Given the description of an element on the screen output the (x, y) to click on. 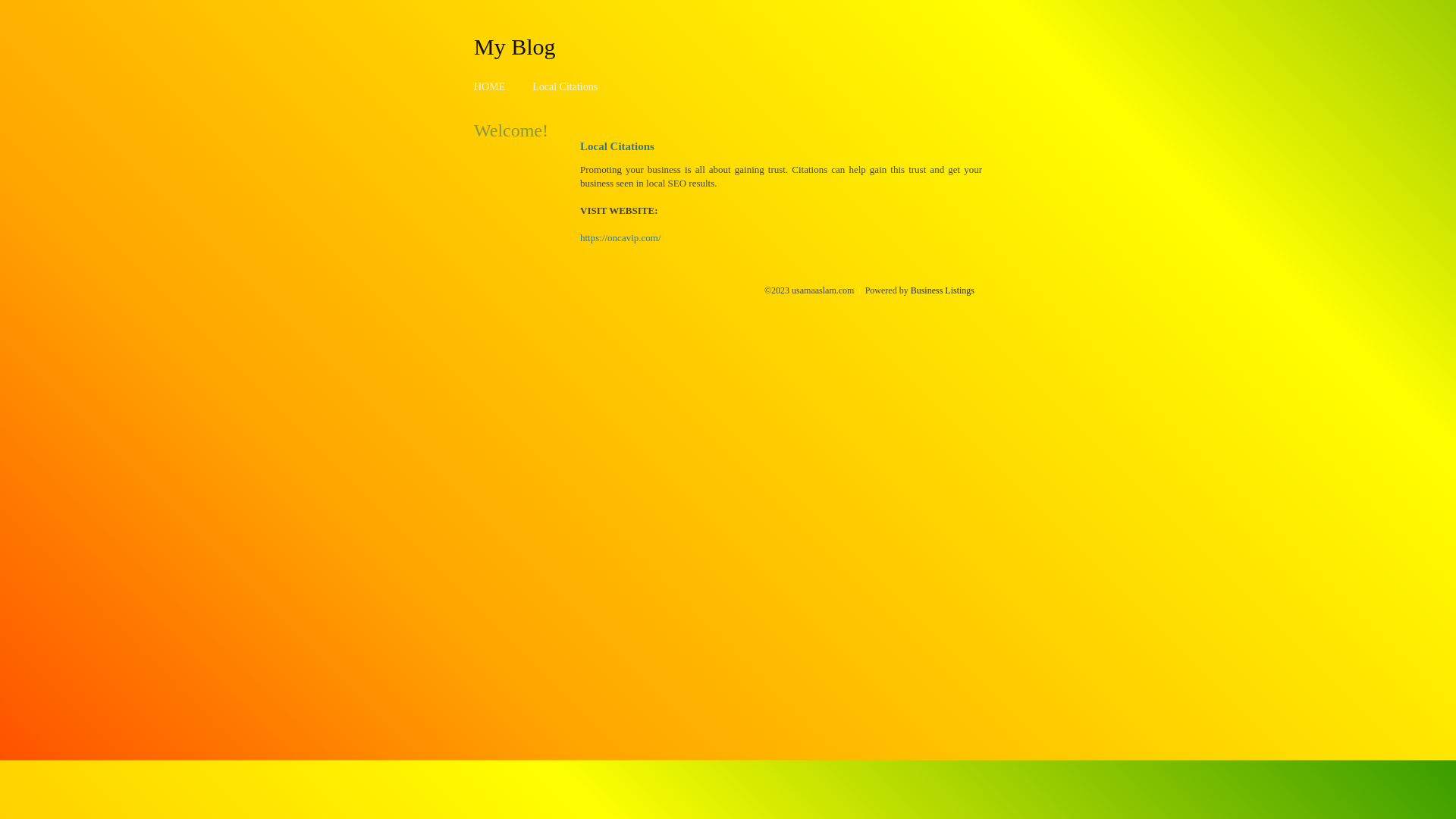
HOME Element type: text (489, 86)
Business Listings Element type: text (942, 290)
Local Citations Element type: text (564, 86)
https://oncavip.com/ Element type: text (620, 237)
My Blog Element type: text (514, 46)
